Given the description of an element on the screen output the (x, y) to click on. 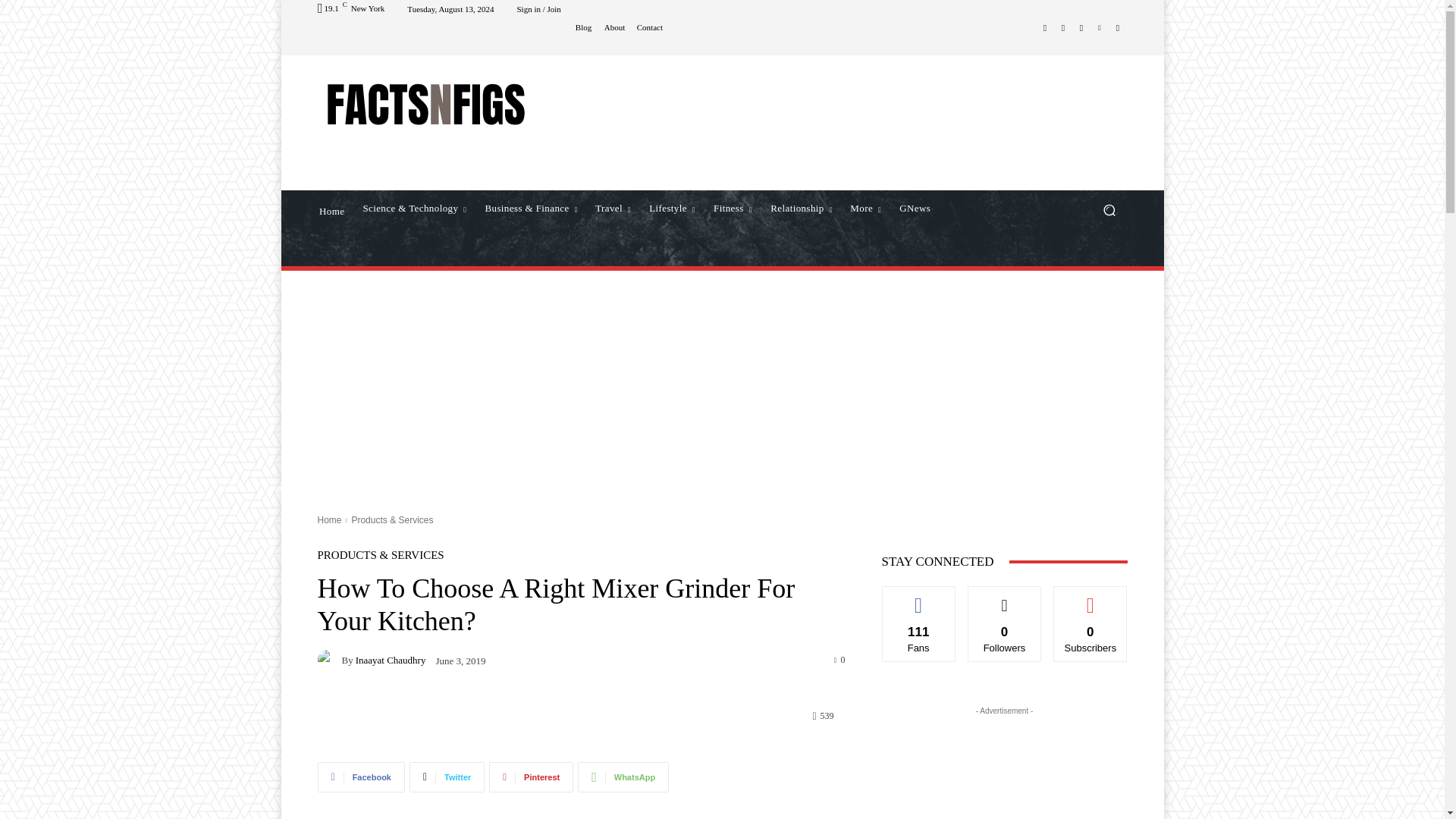
Vimeo (1099, 27)
Facebook (1044, 27)
Youtube (1117, 27)
Instagram (1062, 27)
Advertisement (849, 121)
factsnfigs (426, 104)
factsnfigs (425, 104)
Contact (649, 27)
About (615, 27)
Twitter (1080, 27)
